Given the description of an element on the screen output the (x, y) to click on. 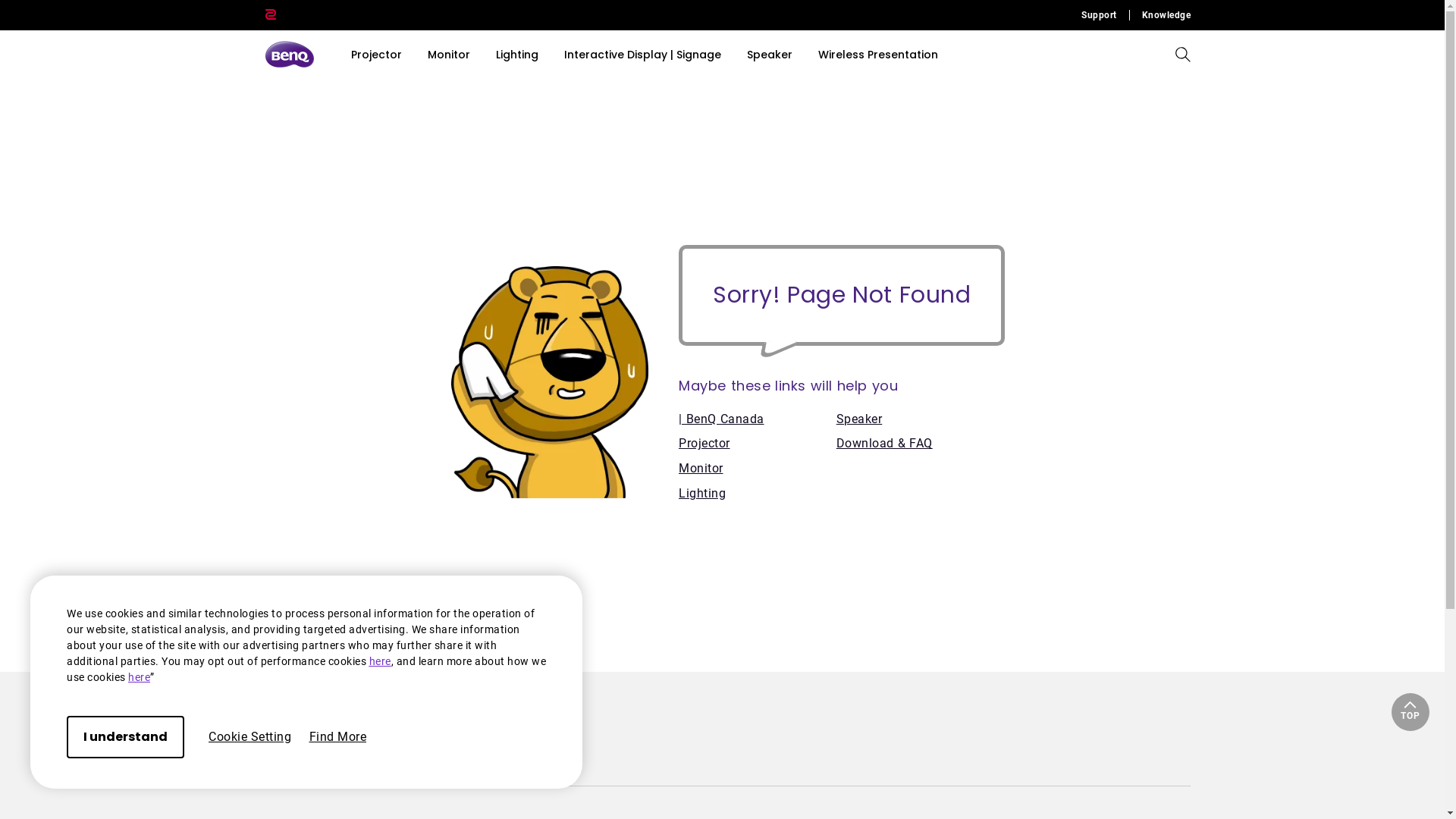
Support Element type: text (1105, 14)
Find More Element type: text (338, 736)
Speaker Element type: text (769, 54)
Cookie Setting Element type: text (249, 736)
here Element type: text (139, 677)
Monitor Element type: text (757, 468)
Lighting Element type: text (757, 493)
here Element type: text (379, 661)
Projector Element type: text (757, 443)
Wireless Presentation Element type: text (877, 54)
Speaker Element type: text (920, 419)
Download & FAQ Element type: text (920, 443)
Knowledge Element type: text (1160, 14)
I understand Element type: text (125, 736)
| BenQ Canada Element type: text (757, 419)
